Given the description of an element on the screen output the (x, y) to click on. 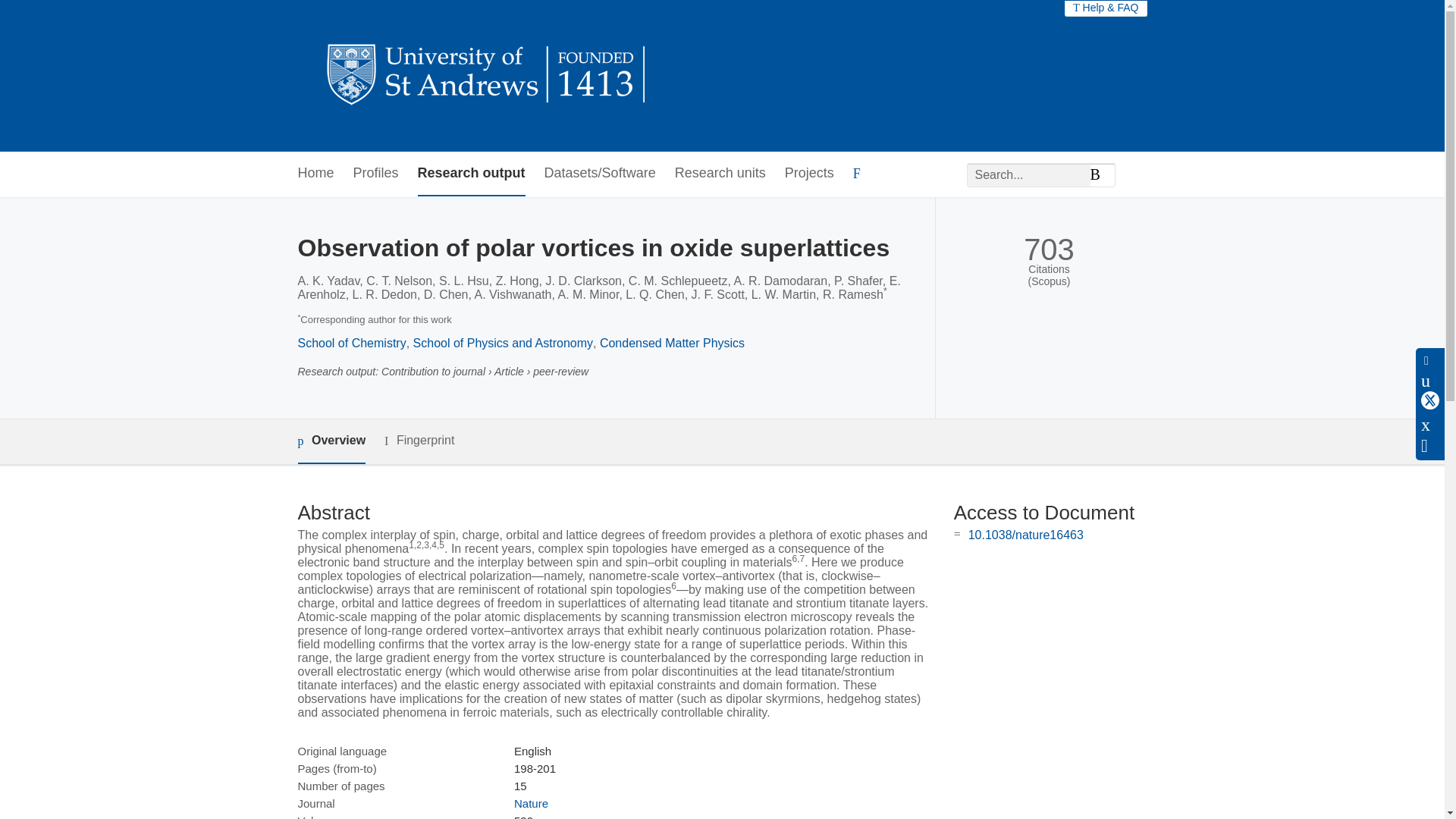
Profiles (375, 173)
School of Chemistry (351, 342)
Research units (720, 173)
Overview (331, 441)
Fingerprint (419, 440)
Projects (809, 173)
University of St Andrews Research Portal Home (487, 75)
Nature (530, 802)
School of Physics and Astronomy (502, 342)
Research output (471, 173)
Condensed Matter Physics (671, 342)
